Given the description of an element on the screen output the (x, y) to click on. 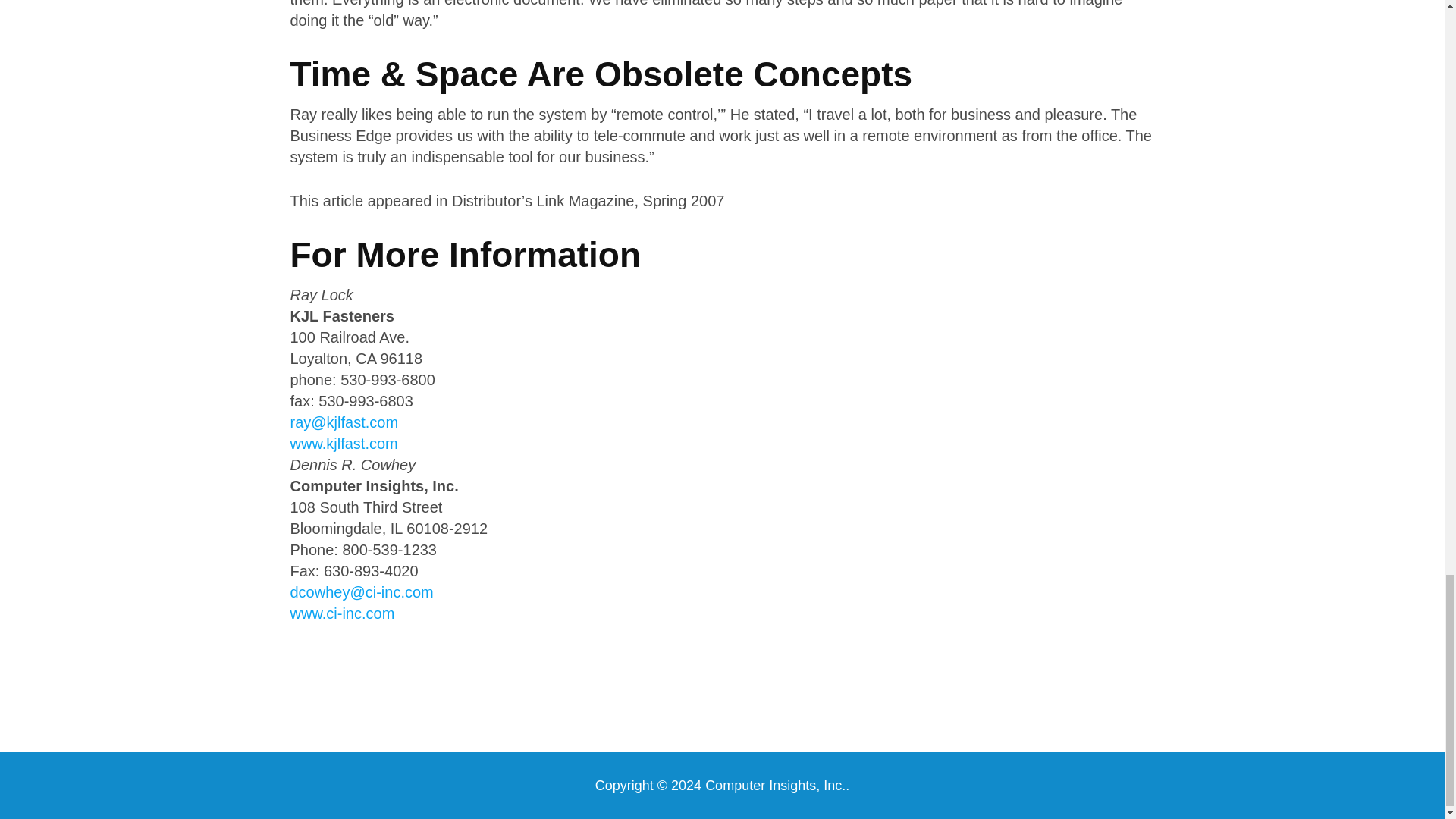
www.kjlfast.com (343, 443)
www.ci-inc.com (341, 613)
